Given the description of an element on the screen output the (x, y) to click on. 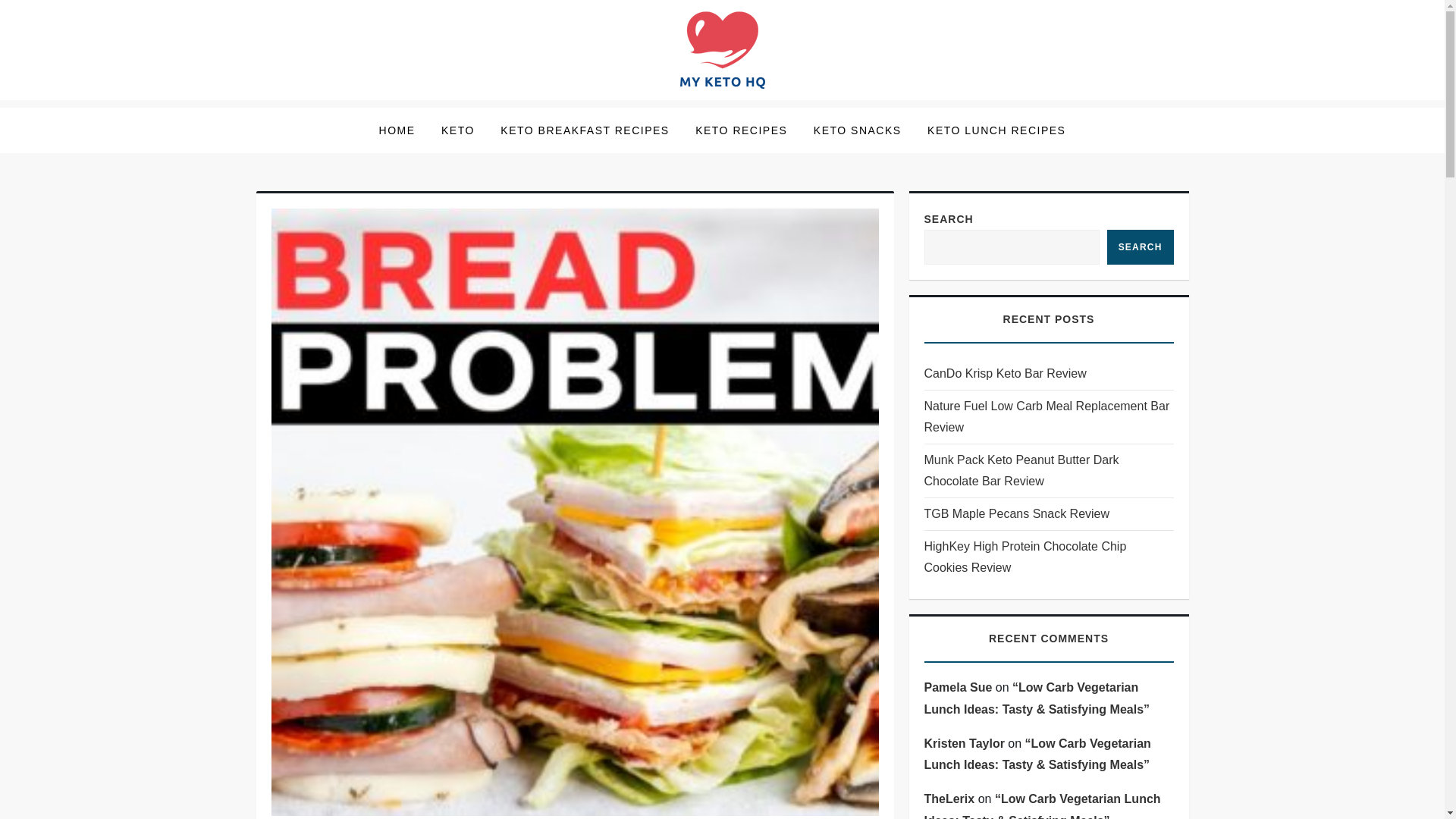
KETO (457, 130)
HighKey High Protein Chocolate Chip Cookies Review (1048, 557)
Munk Pack Keto Peanut Butter Dark Chocolate Bar Review (1048, 470)
KETO BREAKFAST RECIPES (584, 130)
TGB Maple Pecans Snack Review (1016, 513)
Kristen Taylor (963, 743)
CanDo Krisp Keto Bar Review (1004, 373)
SEARCH (1139, 247)
KETO RECIPES (740, 130)
KETO SNACKS (857, 130)
